Given the description of an element on the screen output the (x, y) to click on. 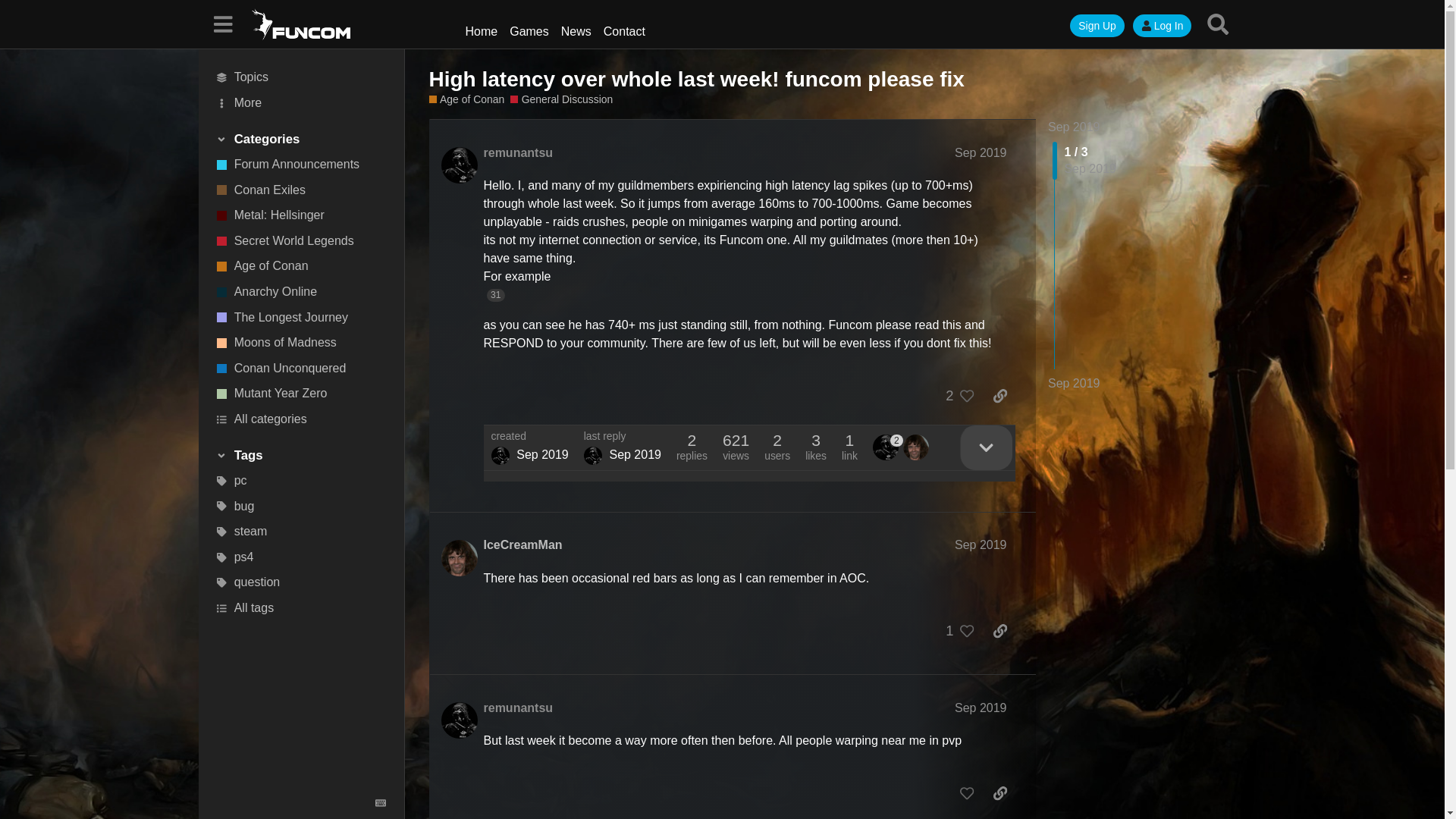
The Longest Journey (301, 317)
All categories (301, 419)
Metal: Hellsinger (301, 216)
Log In (1162, 25)
Topics (301, 77)
Conan Unconquered (301, 368)
Search (1216, 23)
Toggle section (299, 139)
Categories (299, 139)
Anarchy Online (301, 291)
More (301, 103)
General Discussion (561, 99)
Sep 2019 (1074, 126)
Mutant Year Zero (301, 394)
Sign Up (1097, 25)
